Given the description of an element on the screen output the (x, y) to click on. 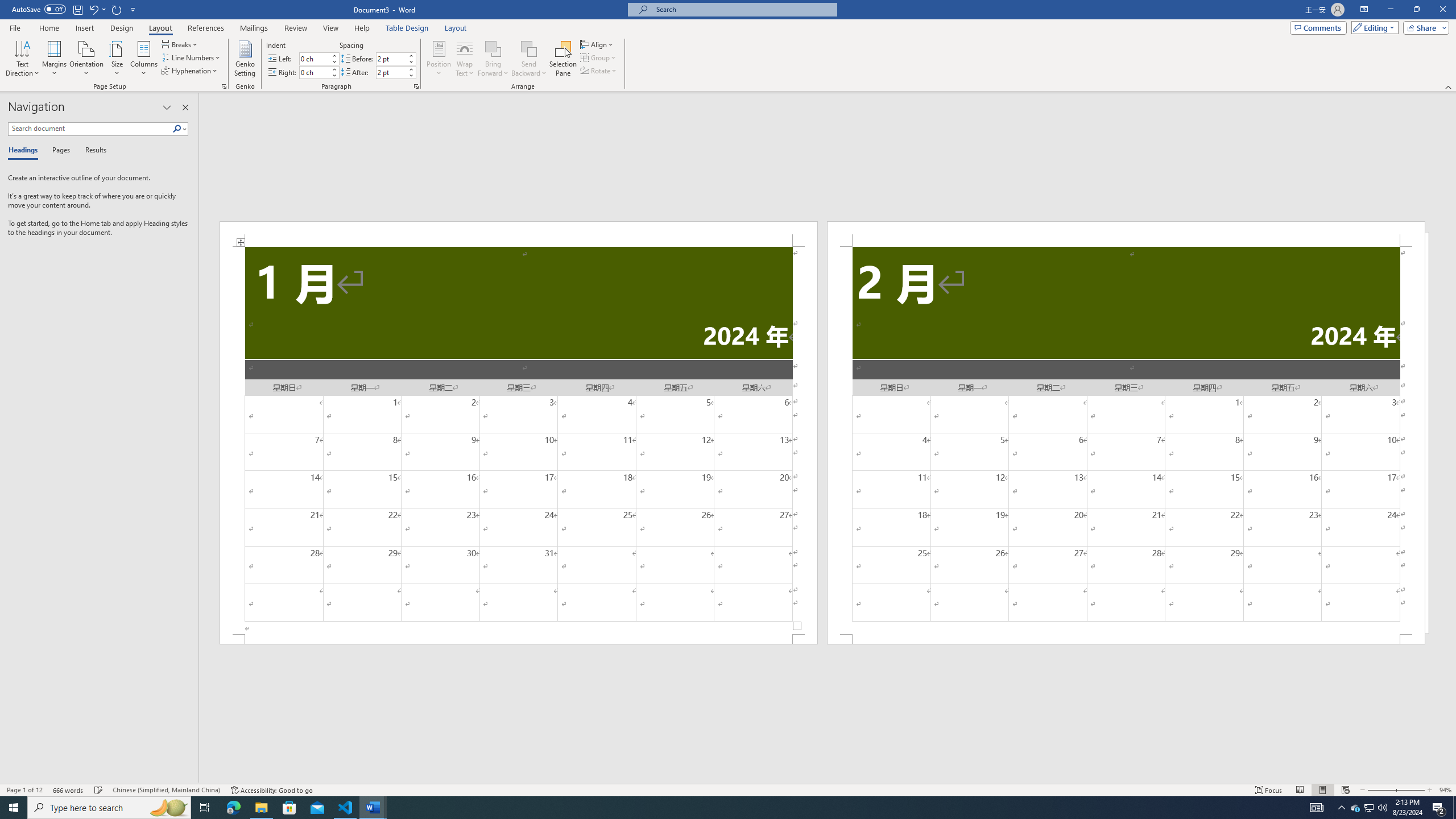
Position (438, 58)
Header -Section 1- (518, 233)
Undo Increase Indent (92, 9)
Footer -Section 1- (518, 638)
Spelling and Grammar Check Checking (98, 790)
Word Count 666 words (68, 790)
Bring Forward (492, 58)
Group (599, 56)
Language Chinese (Simplified, Mainland China) (165, 790)
Header -Section 2- (1126, 233)
